Given the description of an element on the screen output the (x, y) to click on. 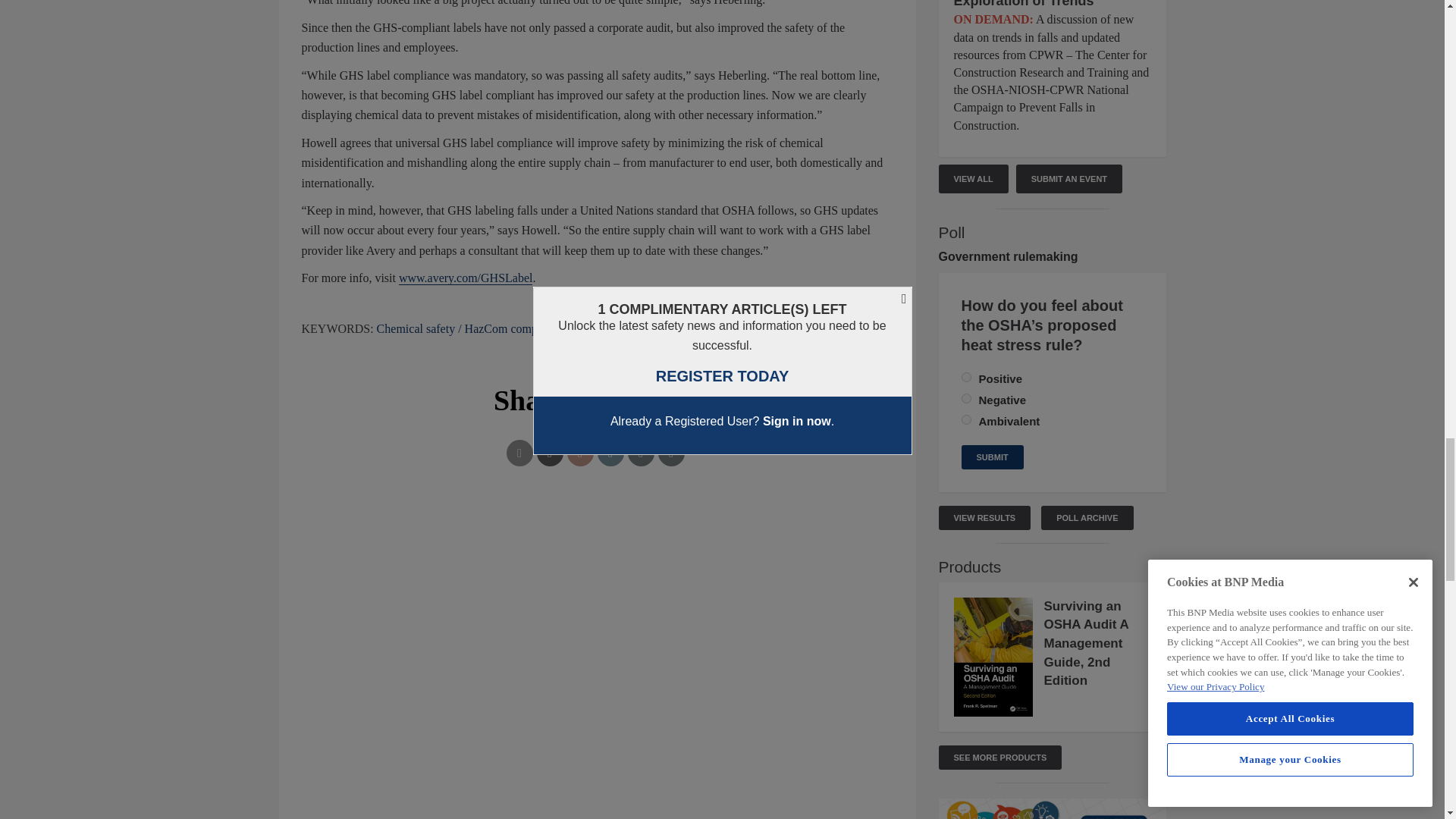
143 (965, 398)
Submit (991, 457)
142 (965, 377)
144 (965, 419)
Interaction questions (597, 571)
